Given the description of an element on the screen output the (x, y) to click on. 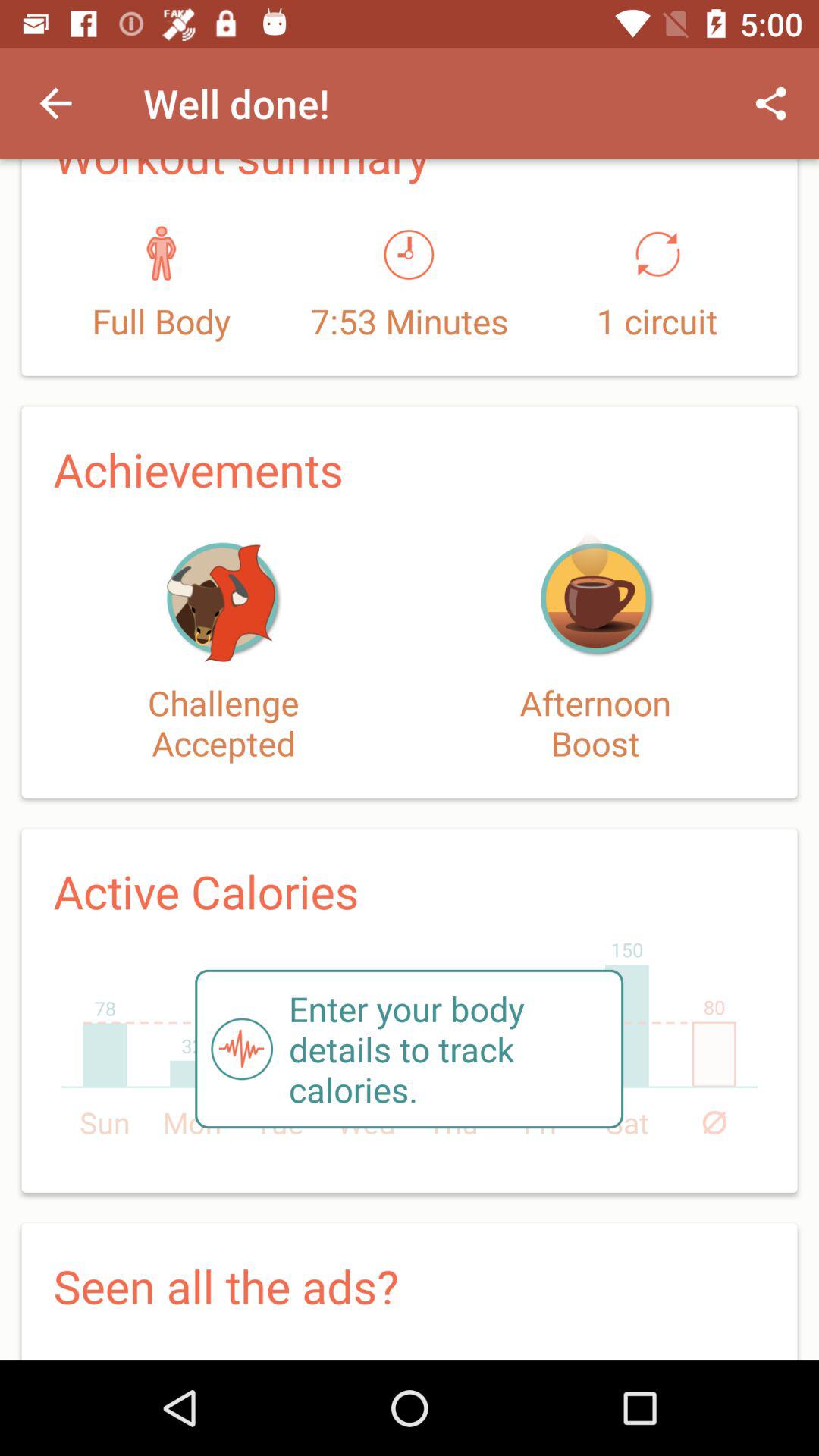
turn on item next to the workout summary item (771, 103)
